Given the description of an element on the screen output the (x, y) to click on. 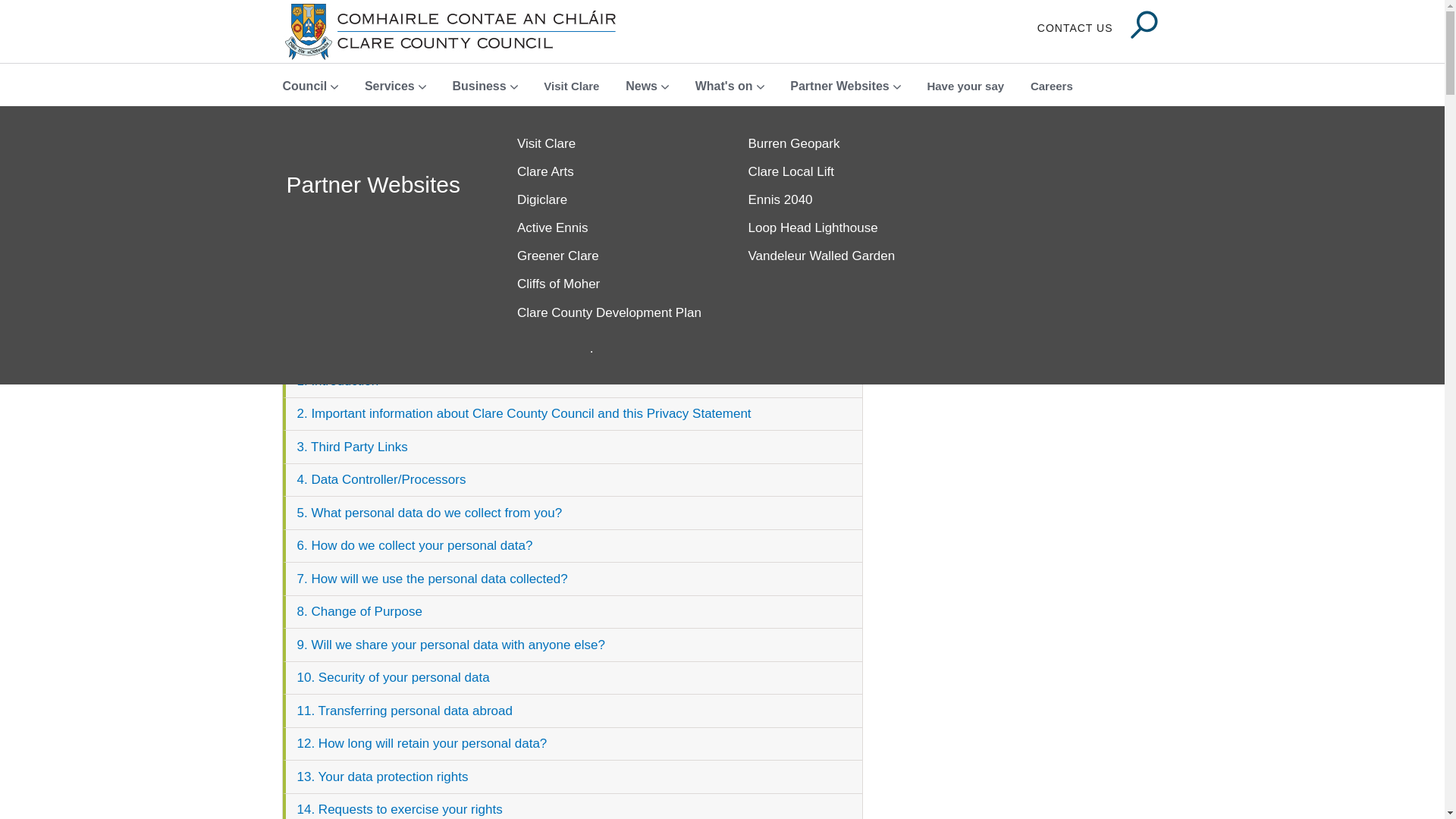
Publications (841, 172)
Meetings (841, 144)
Departments (609, 256)
Council (379, 183)
About the council (609, 144)
Governance and compliance (609, 312)
Sports and recreation (1072, 172)
Meetings (841, 144)
Contact Us (1074, 28)
Forms (609, 284)
Property management (841, 329)
Customer services (609, 172)
Council (379, 183)
Search (1143, 25)
Governance and compliance (609, 312)
